Given the description of an element on the screen output the (x, y) to click on. 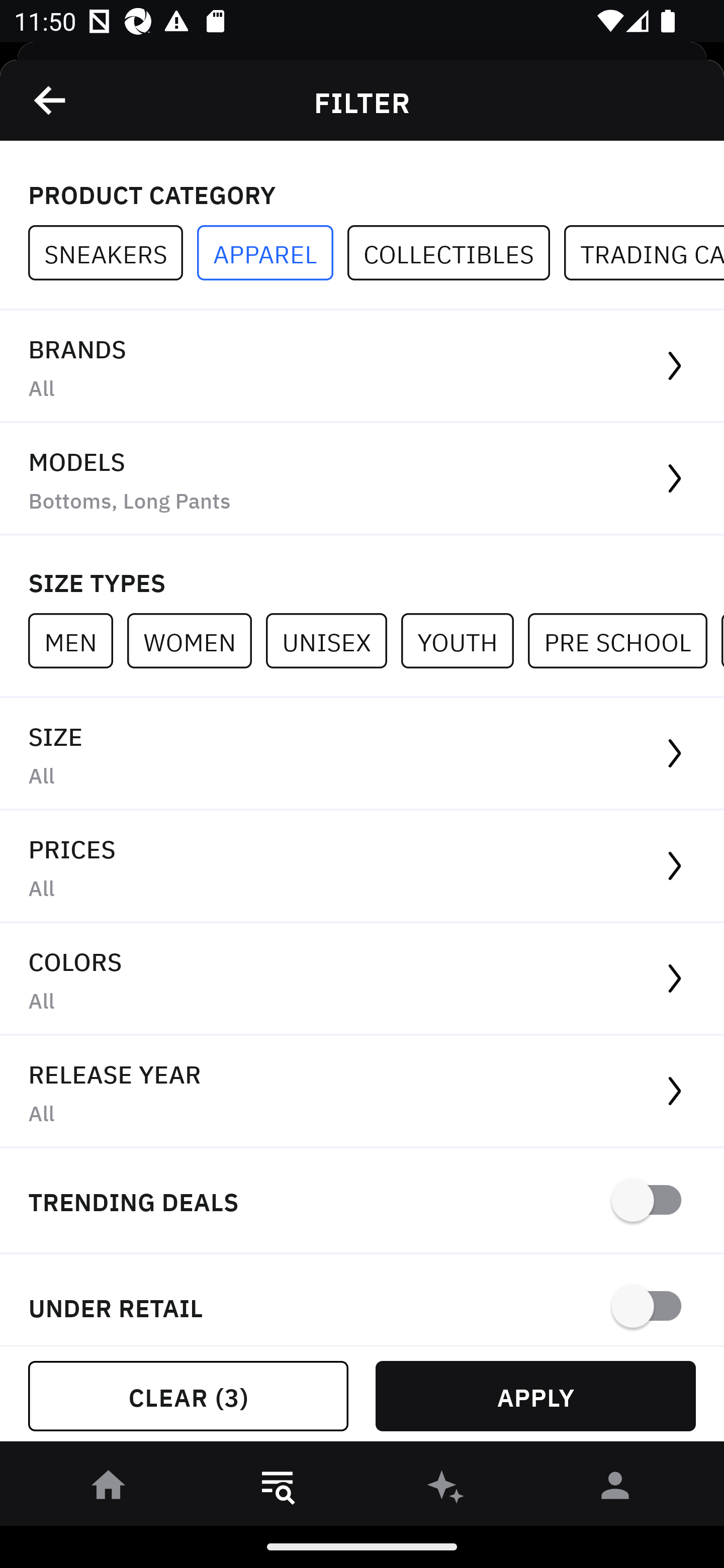
 (50, 100)
SNEAKERS (112, 252)
APPAREL (271, 252)
COLLECTIBLES (455, 252)
TRADING CARDS (643, 252)
BRANDS All (362, 366)
MODELS Bottoms, Long Pants (362, 479)
MEN (77, 640)
WOMEN (196, 640)
UNISEX (333, 640)
YOUTH (464, 640)
PRE SCHOOL (624, 640)
SIZE All (362, 753)
PRICES All (362, 866)
COLORS All (362, 979)
RELEASE YEAR All (362, 1091)
TRENDING DEALS (362, 1200)
UNDER RETAIL (362, 1299)
CLEAR (3) (188, 1396)
APPLY (535, 1396)
󰋜 (108, 1488)
󱎸 (277, 1488)
󰫢 (446, 1488)
󰀄 (615, 1488)
